Given the description of an element on the screen output the (x, y) to click on. 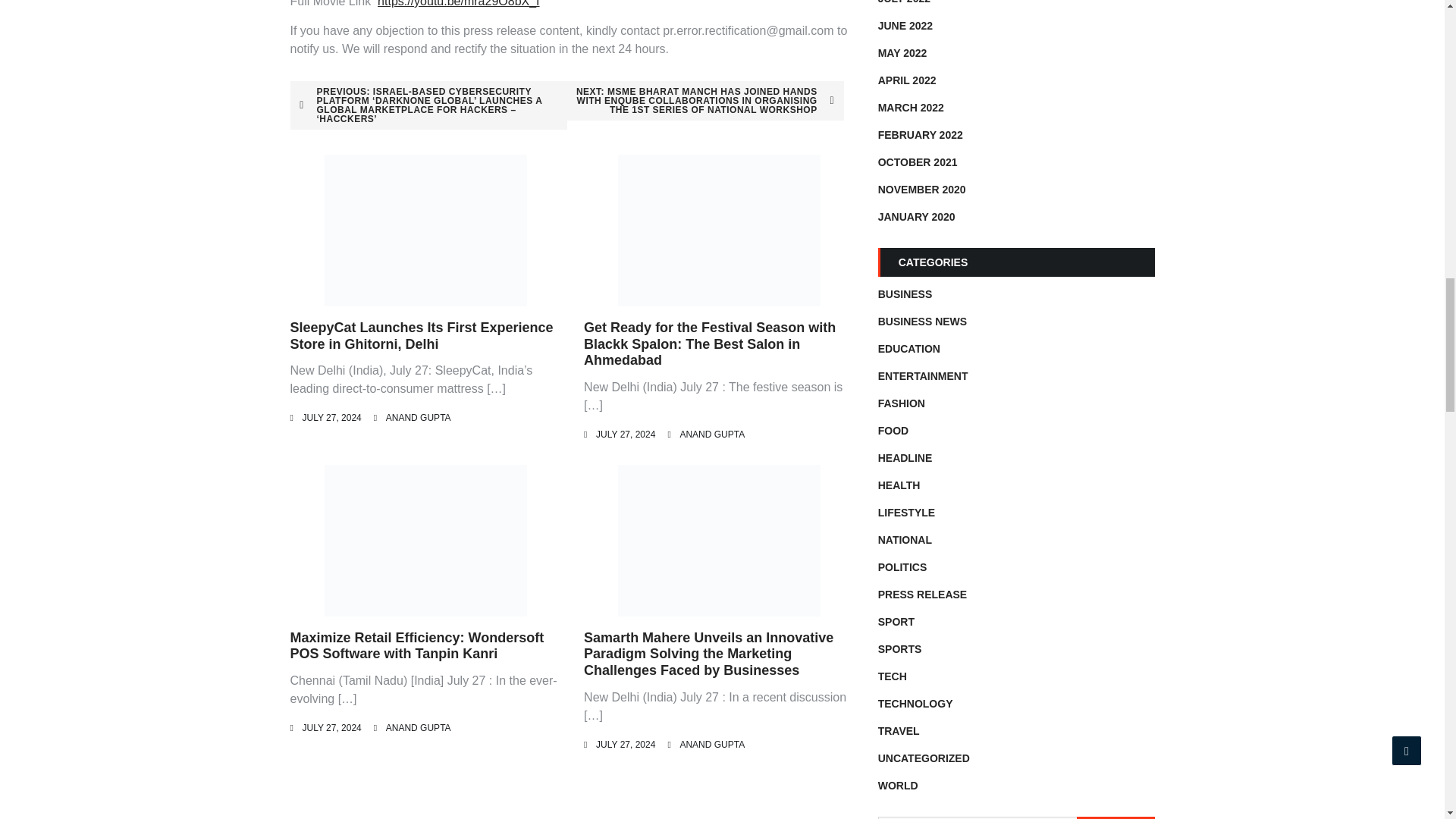
JULY 27, 2024 (331, 727)
ANAND GUPTA (711, 744)
JULY 27, 2024 (331, 417)
ANAND GUPTA (418, 417)
ANAND GUPTA (418, 727)
Search (1115, 817)
Search (1115, 817)
JULY 27, 2024 (625, 744)
ANAND GUPTA (711, 434)
JULY 27, 2024 (625, 434)
